Given the description of an element on the screen output the (x, y) to click on. 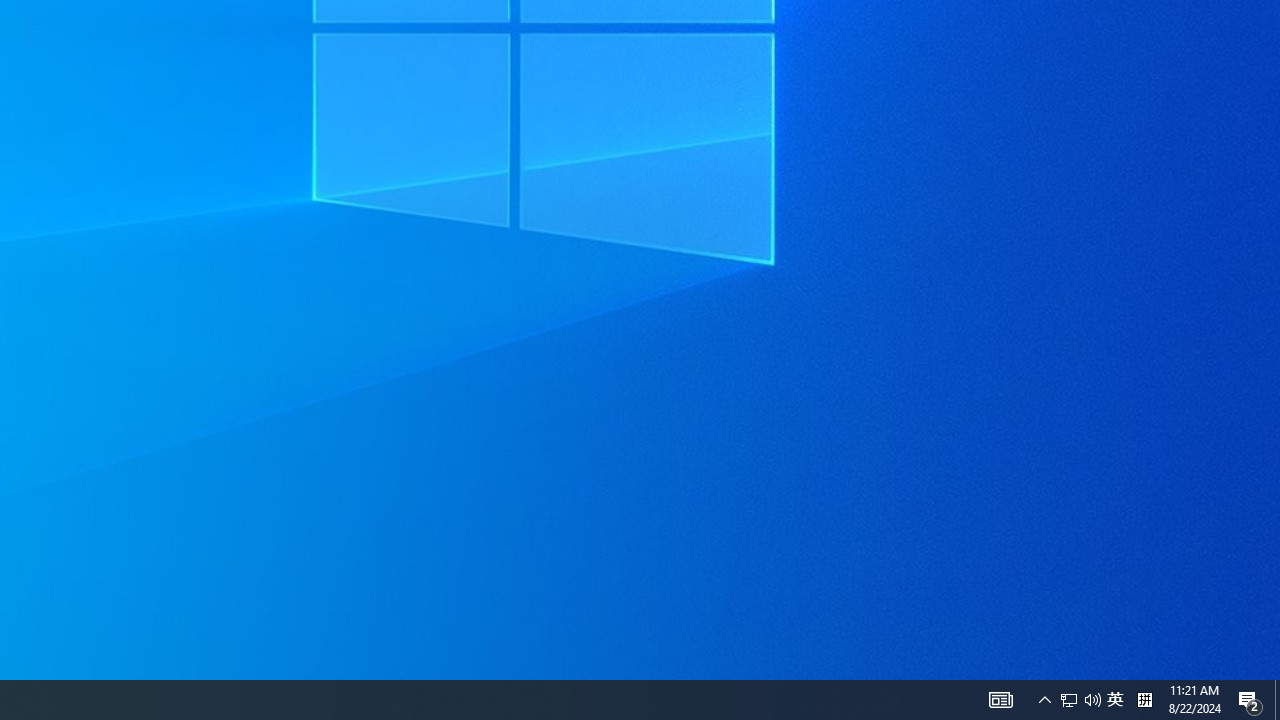
Action Center, 2 new notifications (1250, 699)
Tray Input Indicator - Chinese (Simplified, China) (1144, 699)
User Promoted Notification Area (1080, 699)
Show desktop (1277, 699)
AutomationID: 4105 (1000, 699)
Notification Chevron (1044, 699)
Q2790: 100% (1069, 699)
